Given the description of an element on the screen output the (x, y) to click on. 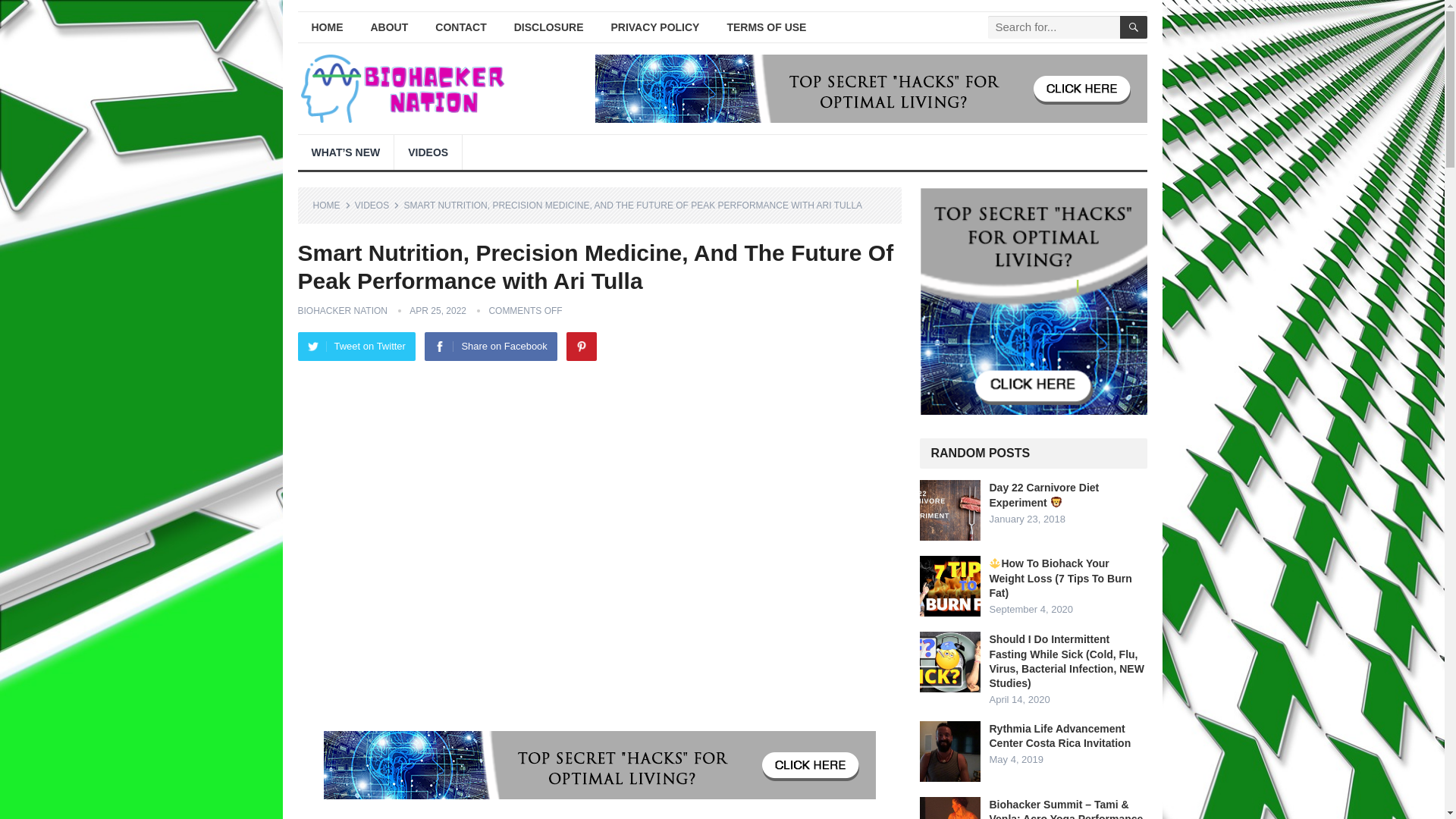
HOME (326, 27)
Tweet on Twitter (355, 346)
BIOHACKER NATION (342, 310)
DISCLOSURE (548, 27)
PRIVACY POLICY (654, 27)
HOME (331, 204)
CONTACT (460, 27)
TERMS OF USE (766, 27)
Posts by Biohacker nation (342, 310)
